Given the description of an element on the screen output the (x, y) to click on. 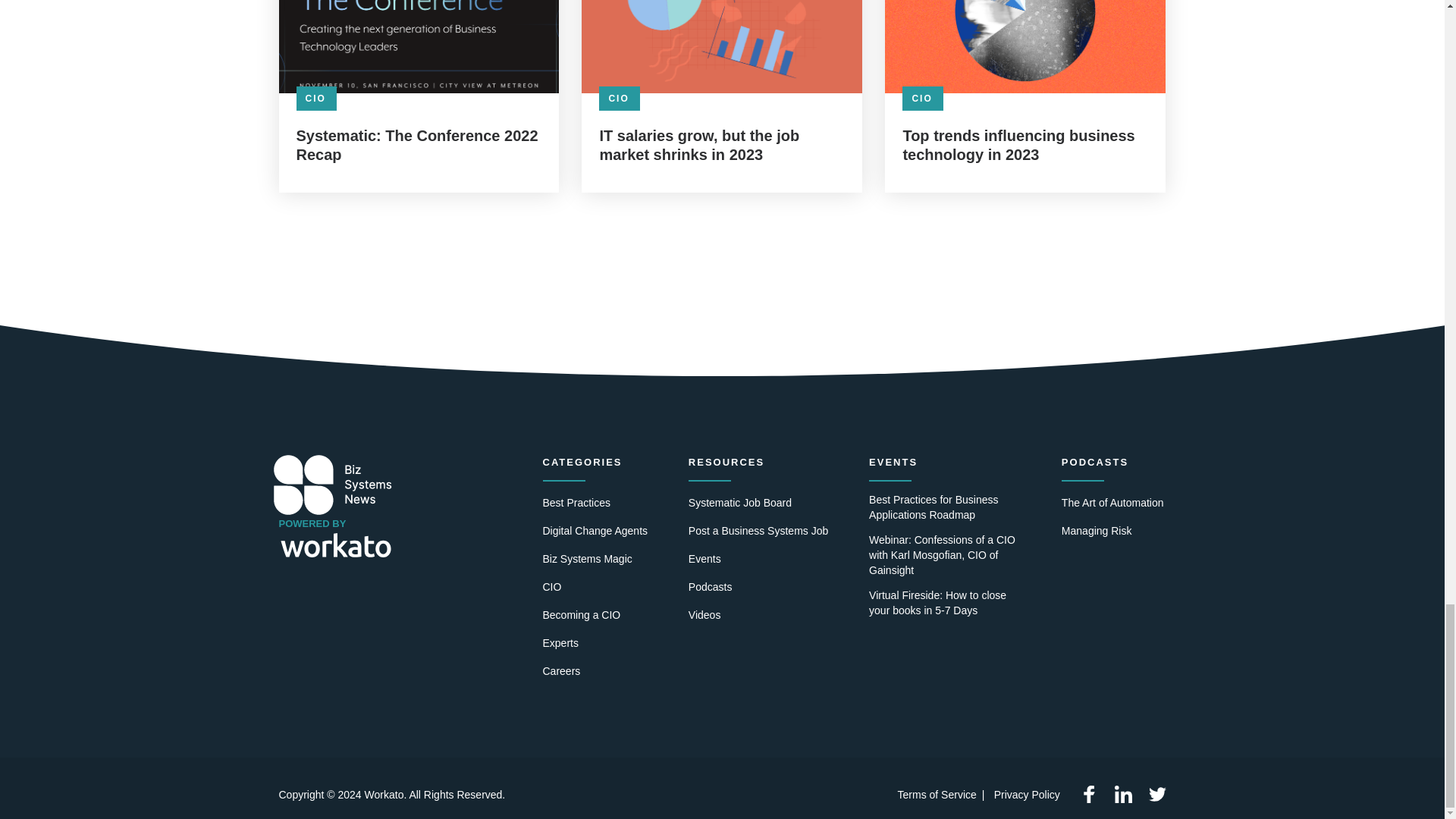
Digital Change Agents (595, 531)
CIO (922, 98)
IT salaries grow, but the job market shrinks in 2023 (721, 145)
Best Practices (576, 503)
Top trends influencing business technology in 2023 (1025, 145)
CIO (315, 98)
CIO (618, 98)
Systematic: The Conference 2022 Recap (418, 145)
